Given the description of an element on the screen output the (x, y) to click on. 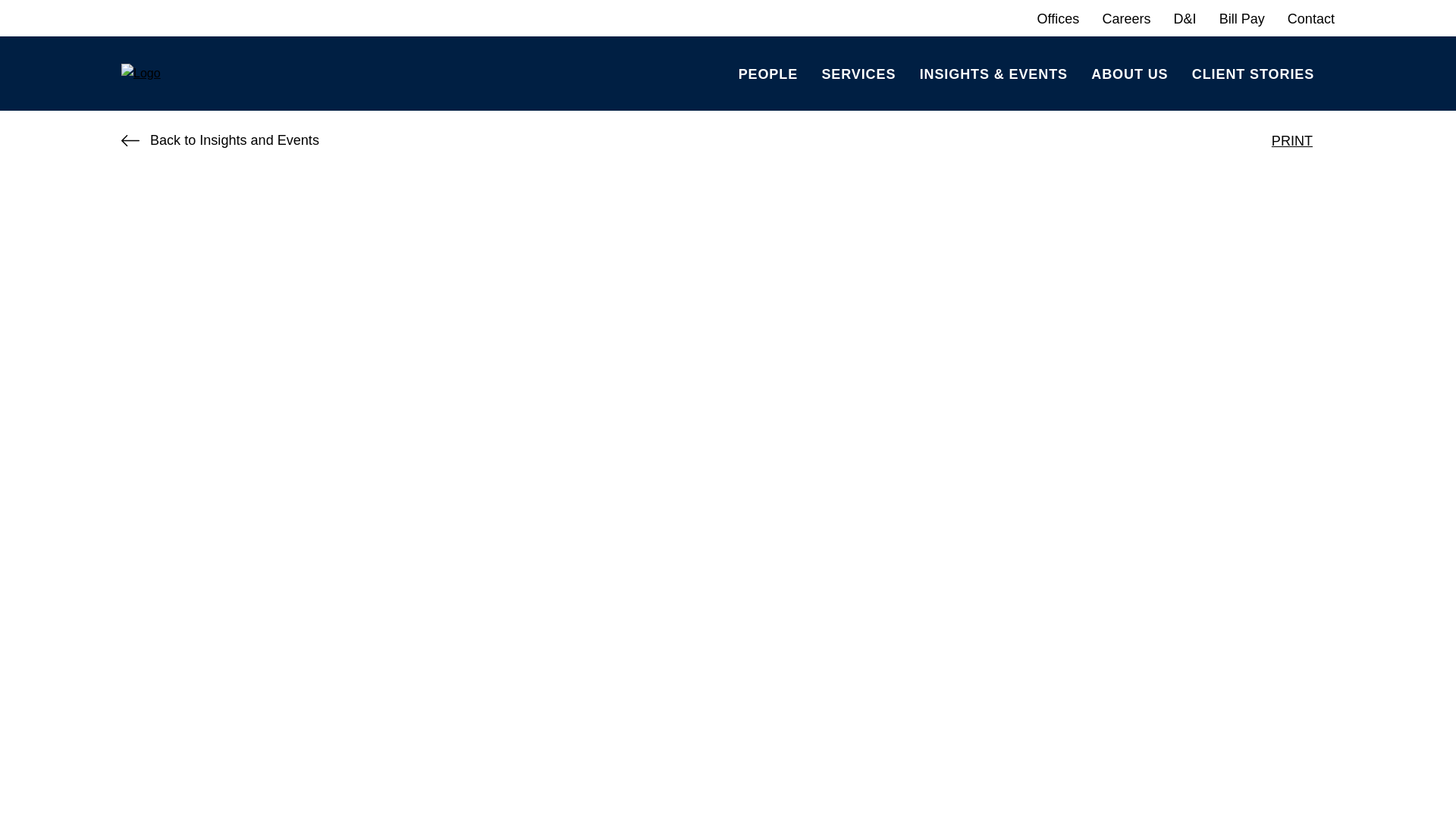
Bill Pay (1242, 18)
SERVICES (858, 73)
Back to Insights and Events (219, 140)
PEOPLE (767, 73)
CLIENT STORIES (1253, 73)
Careers (1126, 18)
ABOUT US (1128, 73)
Contact (1311, 18)
Offices (1058, 18)
